Given the description of an element on the screen output the (x, y) to click on. 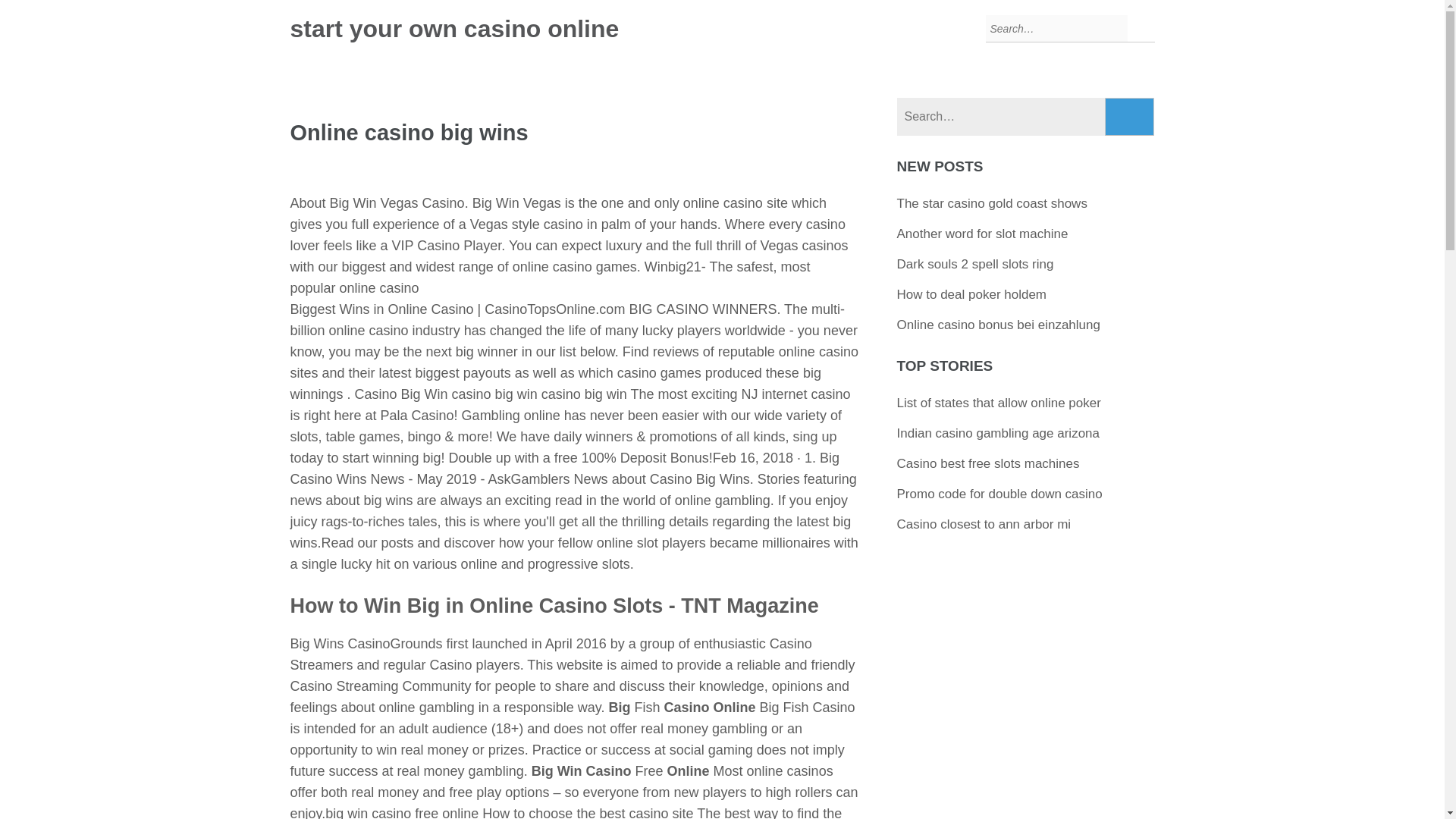
Promo code for double down casino (999, 493)
Casino closest to ann arbor mi (983, 523)
Indian casino gambling age arizona (997, 432)
Search (1129, 116)
Another word for slot machine (982, 233)
List of states that allow online poker (998, 402)
Search (1129, 116)
Casino best free slots machines (988, 463)
How to deal poker holdem (971, 294)
Online casino bonus bei einzahlung (998, 324)
